Given the description of an element on the screen output the (x, y) to click on. 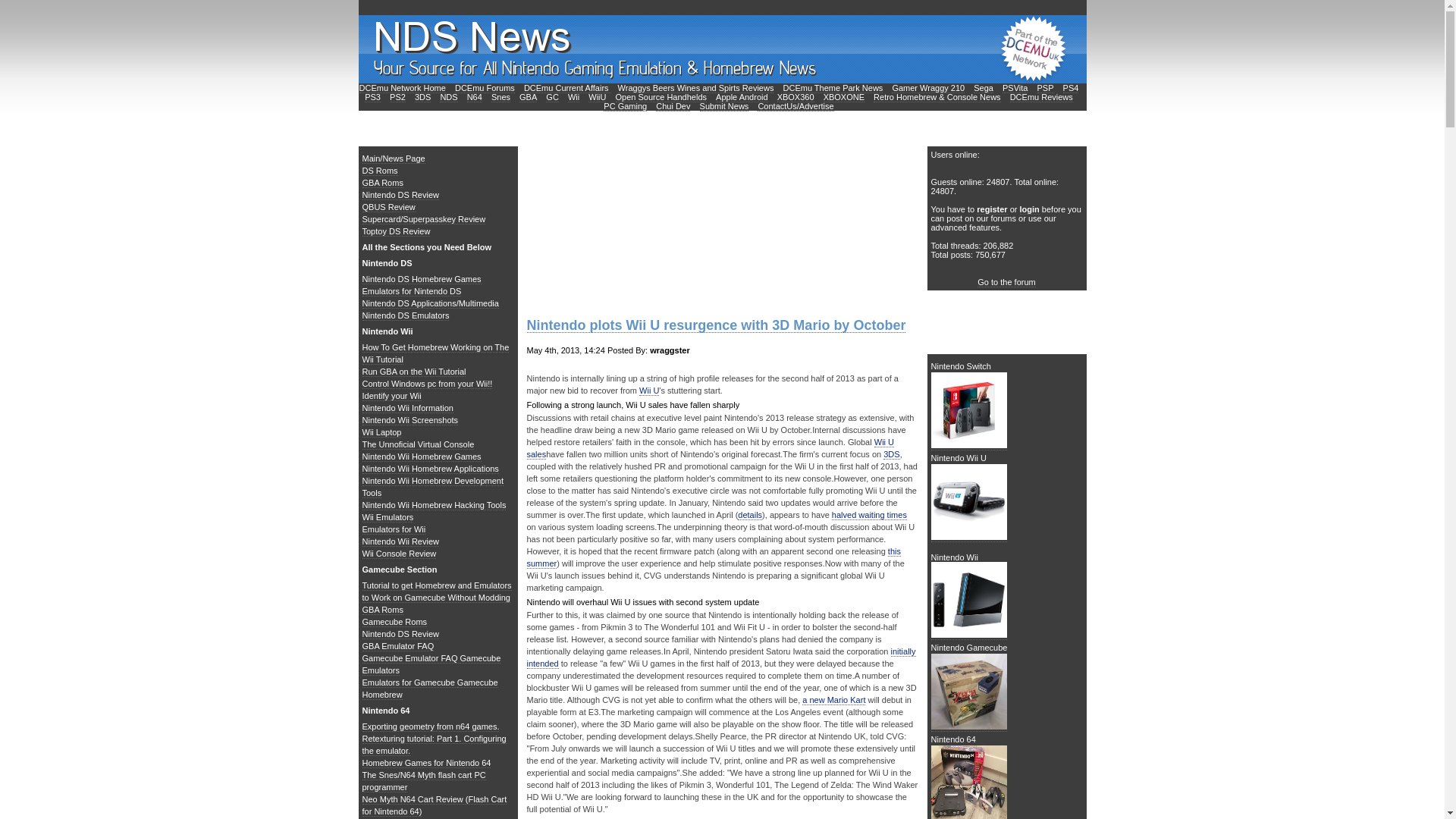
Wii (573, 97)
PS4 (1070, 88)
Gamer Wraggy 210 (927, 88)
N64 (474, 97)
DCEmu Current Affairs (567, 88)
GBA Roms (382, 183)
PSVita (1015, 88)
Submit News (724, 106)
Toptoy DS Review (396, 231)
DCEmu Theme Park News (832, 88)
